Given the description of an element on the screen output the (x, y) to click on. 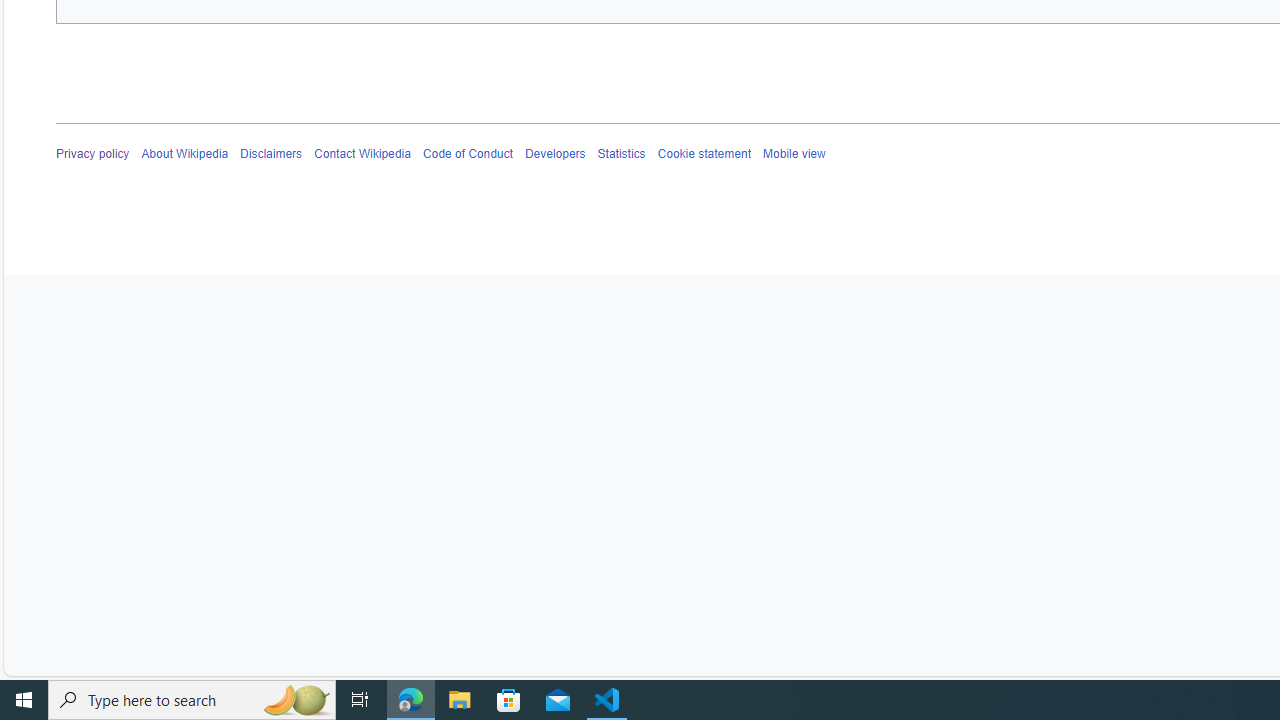
Privacy policy (93, 154)
Code of Conduct (467, 154)
Cookie statement (703, 154)
